Given the description of an element on the screen output the (x, y) to click on. 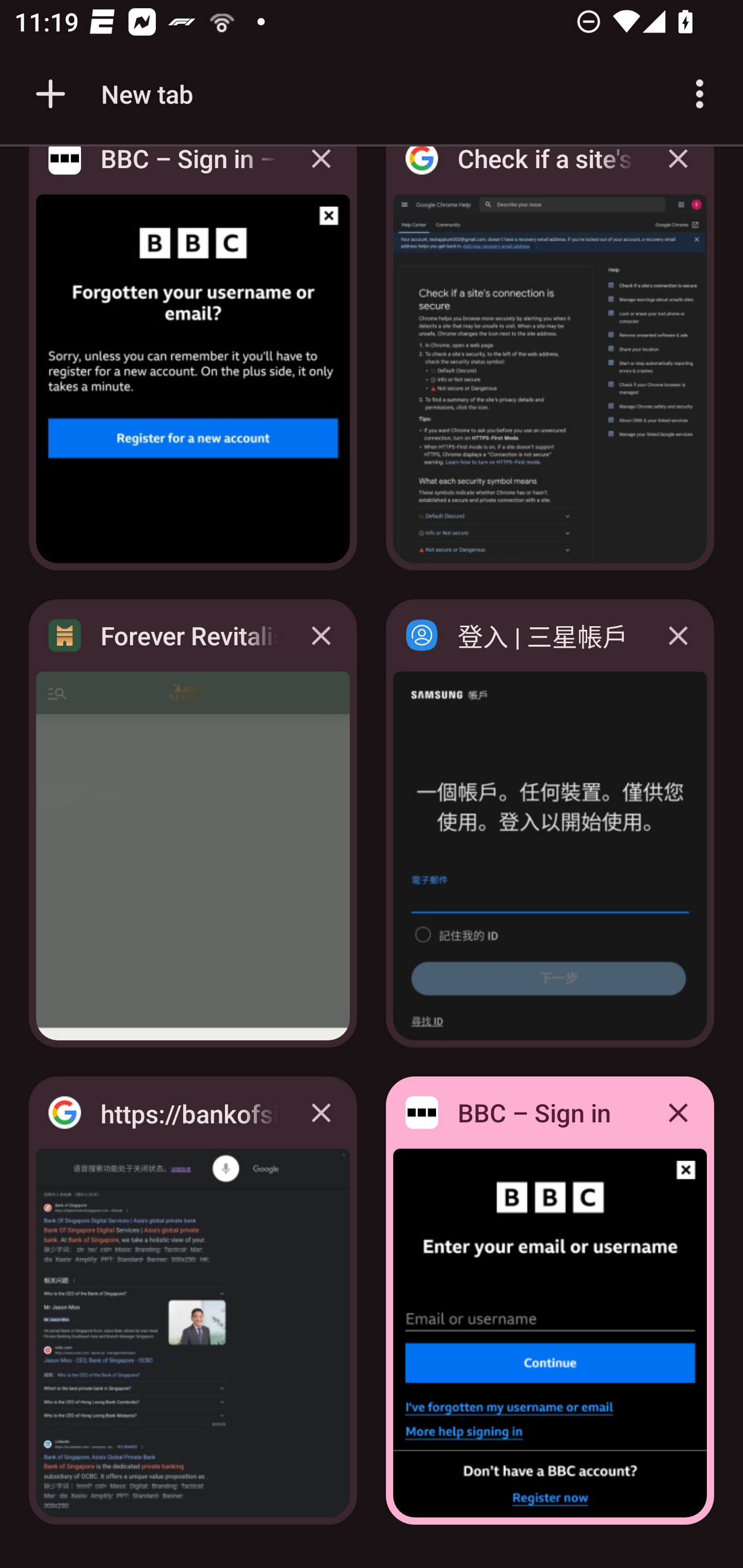
New tab (111, 93)
Customize and control Google Chrome (699, 93)
登入 | 三星帳戶 登入 | 三星帳戶, tab Close 登入 | 三星帳戶 tab (549, 822)
Close Forever Revitalising | Experience AlUla tab (320, 635)
Close 登入 | 三星帳戶 tab (677, 635)
Close BBC – Sign in tab (677, 1112)
